Given the description of an element on the screen output the (x, y) to click on. 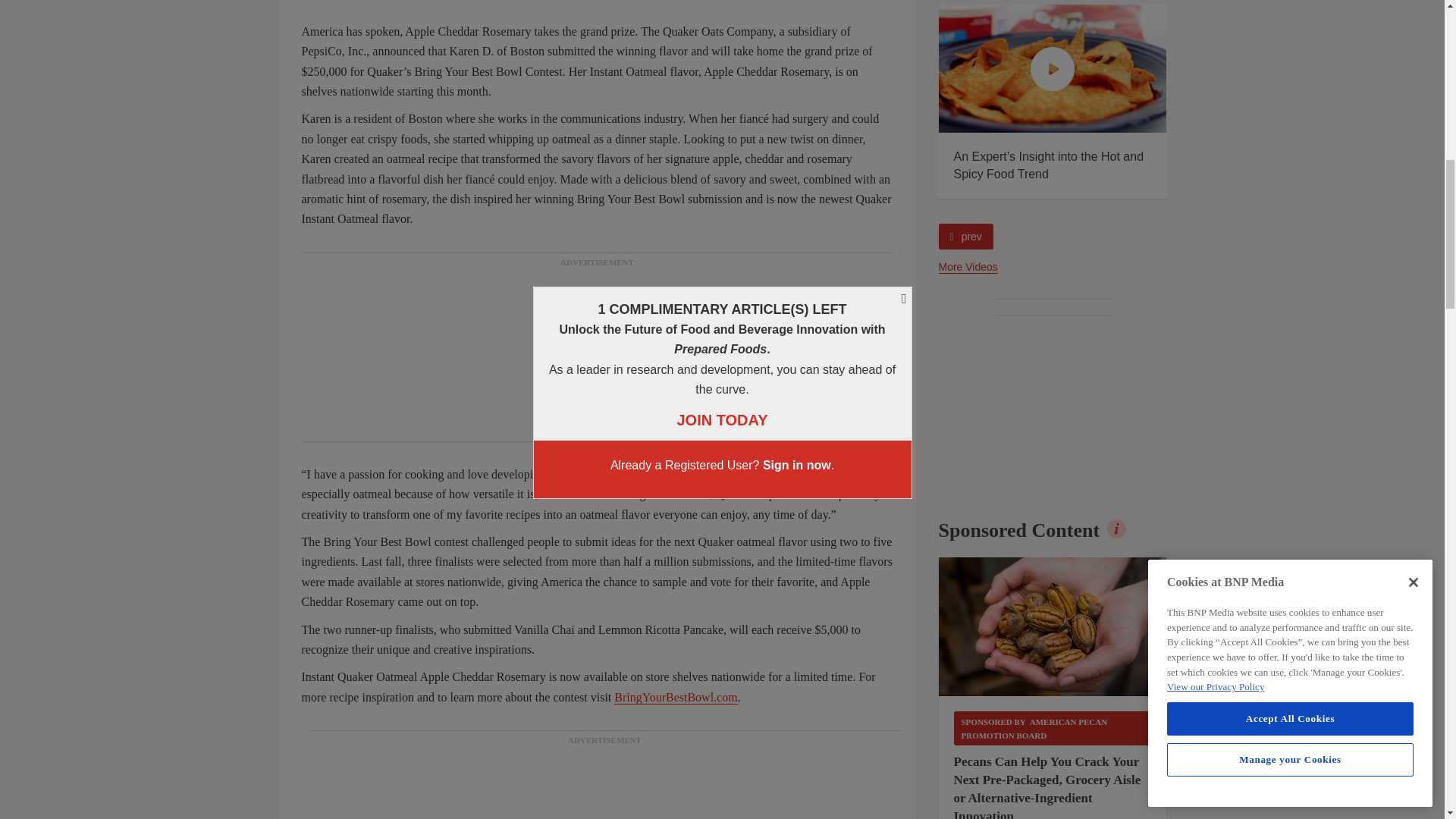
Sponsored by American Pecan Promotion Board (1052, 728)
Mars Snacking, Unreasonable Group Announce New Cohort (825, 68)
Handful of Partially Shelled Pecans (1052, 626)
